Given the description of an element on the screen output the (x, y) to click on. 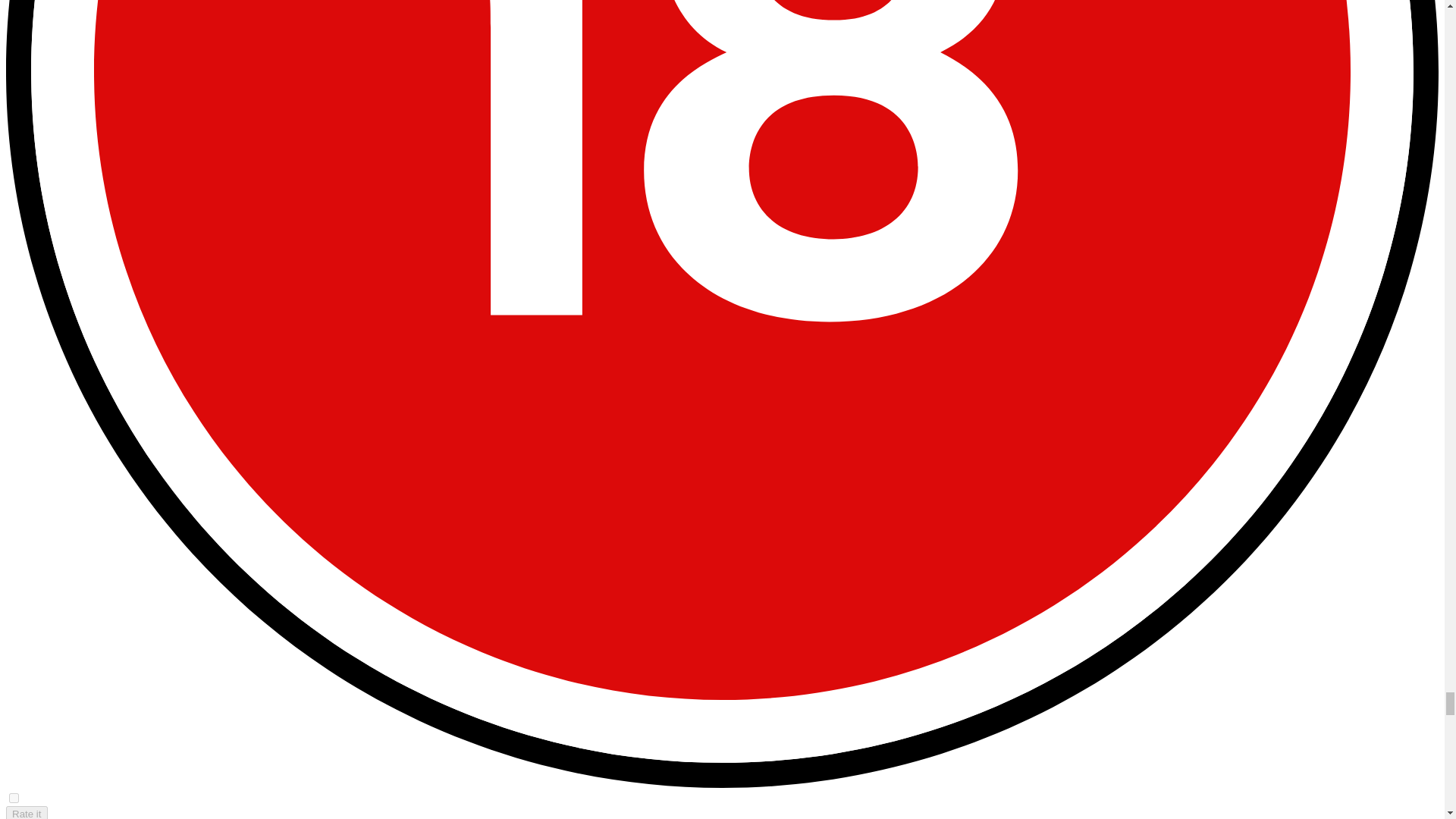
Rate it (26, 812)
18 (13, 798)
